Given the description of an element on the screen output the (x, y) to click on. 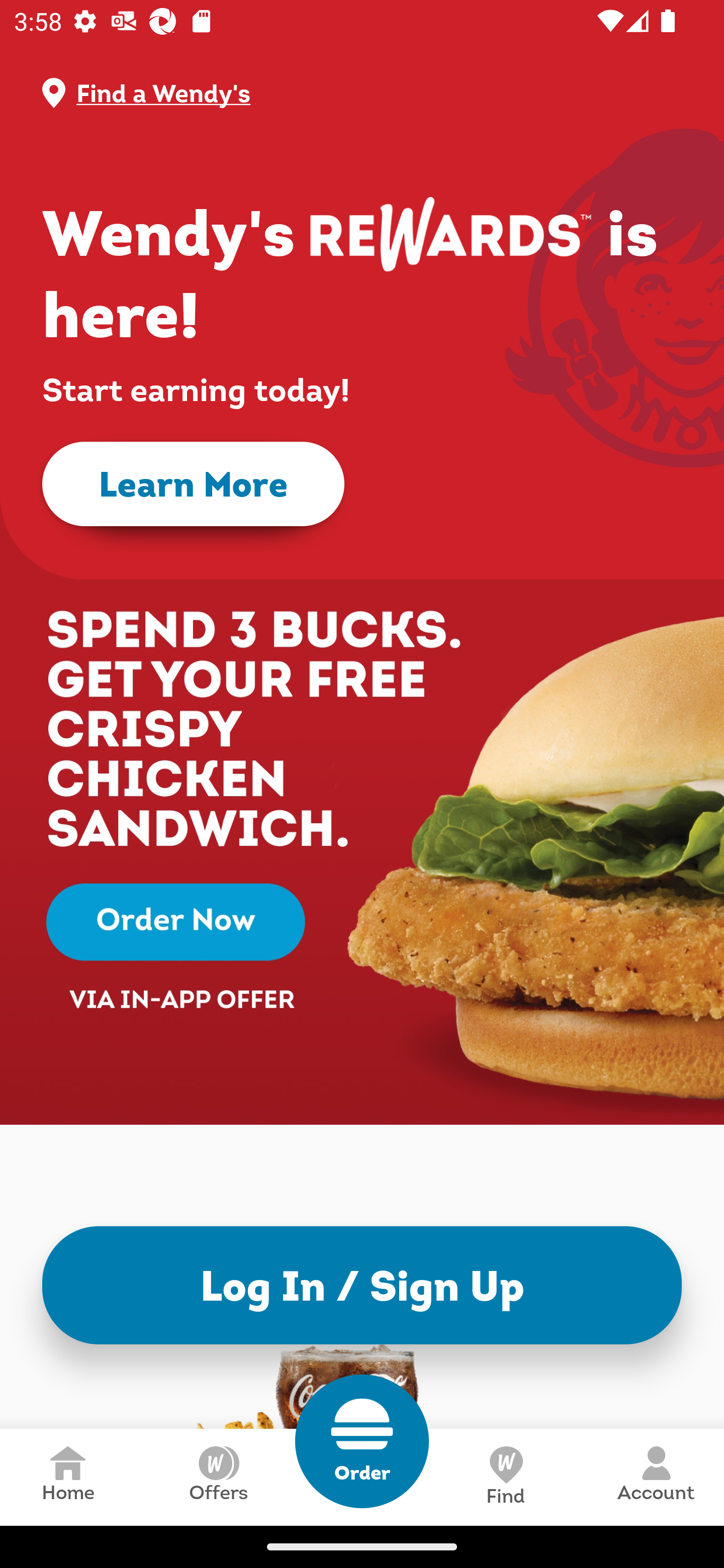
Find a Wendy's (378, 92)
Learn More (192, 484)
Campaign image (362, 807)
Log In / Sign Up (361, 1284)
Order,3 of 5 Order (361, 1441)
Home,1 of 5 Home (68, 1476)
Rewards,2 of 5 Offers Offers (218, 1476)
Scan,4 of 5 Find Find (505, 1476)
Account,5 of 5 Account (655, 1476)
